Given the description of an element on the screen output the (x, y) to click on. 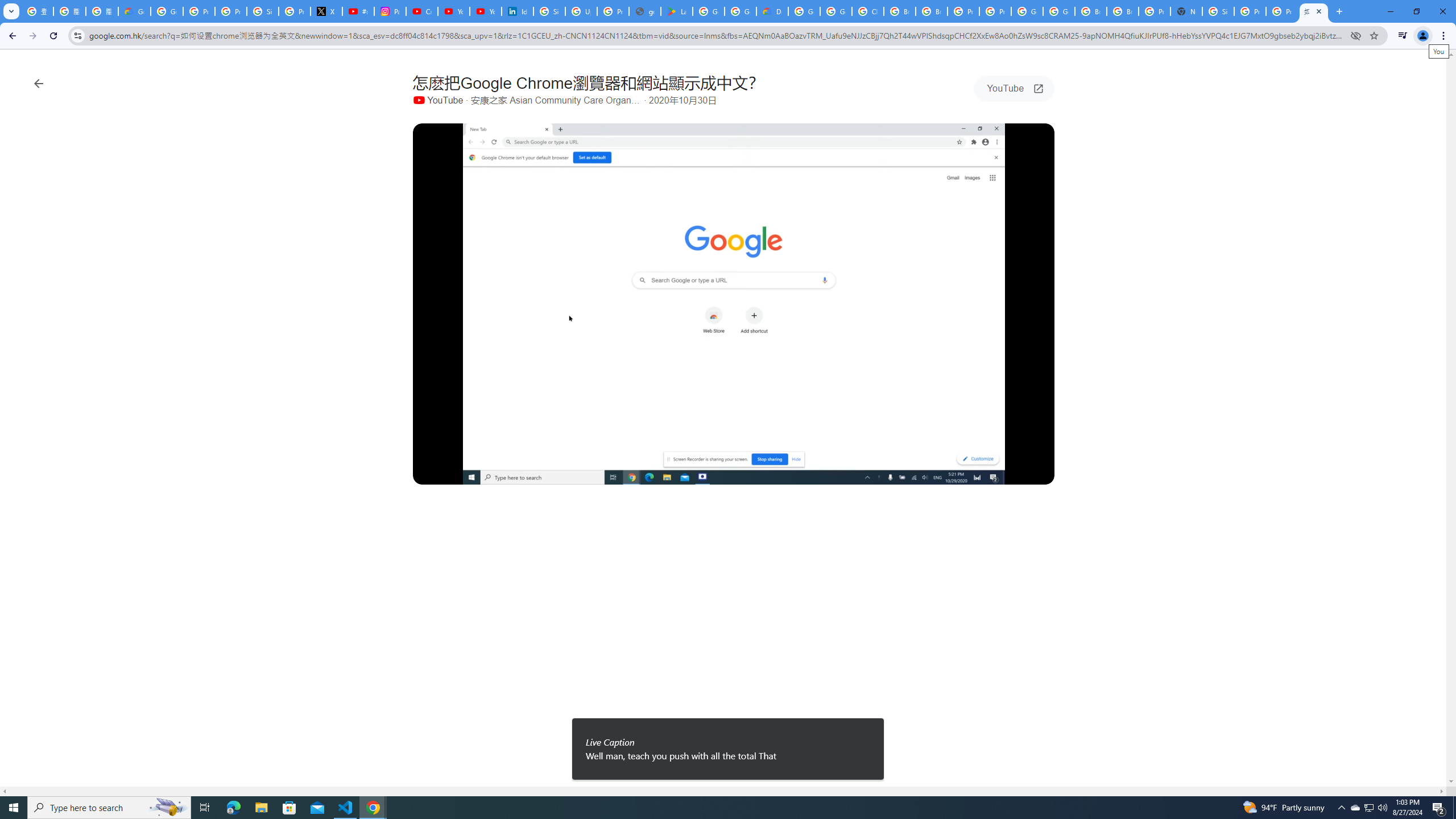
System (6, 6)
Last Shelter: Survival - Apps on Google Play (676, 11)
Subtitles/closed captions unavailable (951, 472)
google_privacy_policy_en.pdf (644, 11)
#nbabasketballhighlights - YouTube (358, 11)
Search tabs (10, 11)
Play (k) (432, 472)
Mute (m) (456, 472)
Back (10, 35)
Google Cloud Platform (1027, 11)
